Given the description of an element on the screen output the (x, y) to click on. 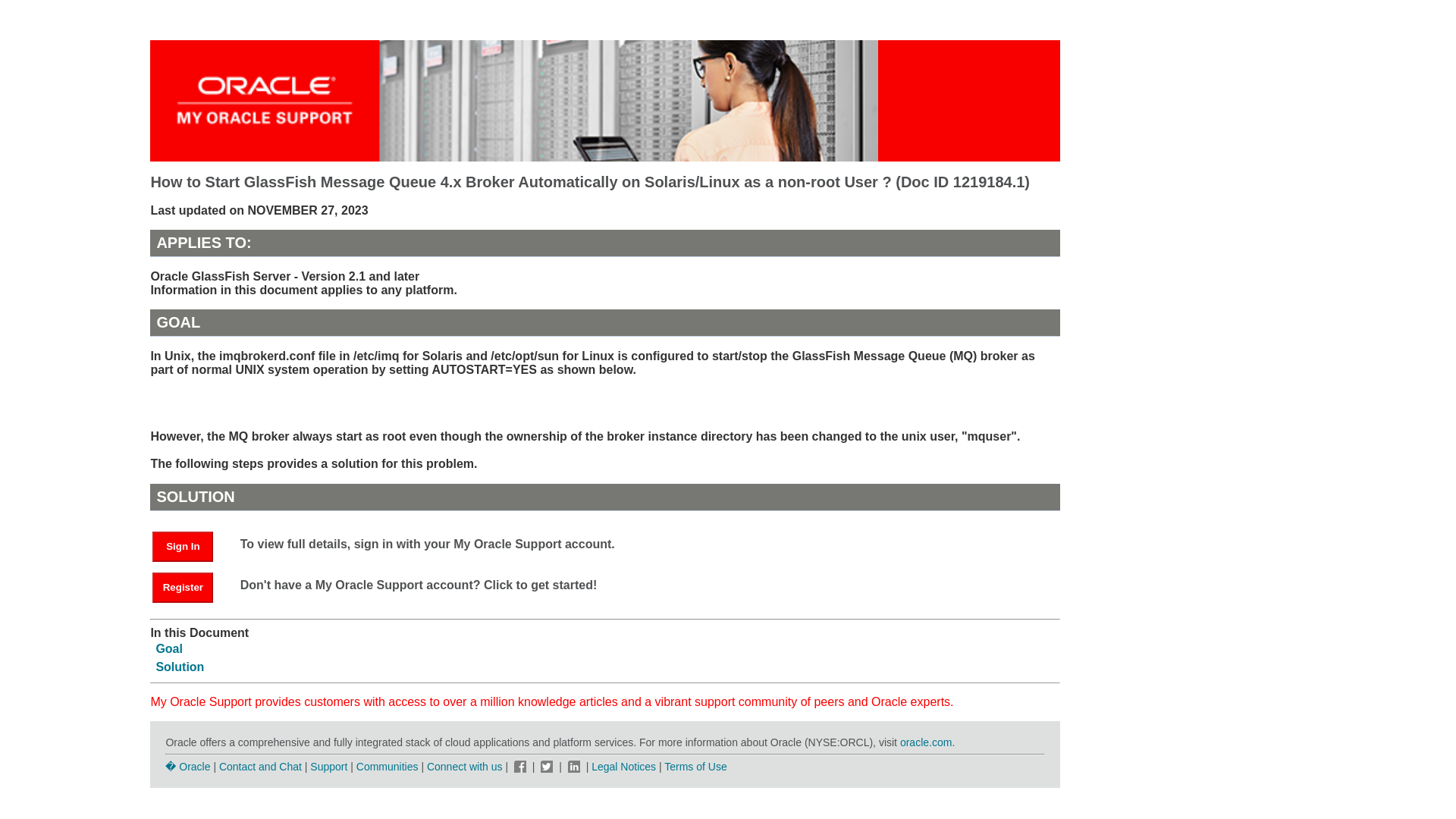
Support (328, 766)
Legal Notices (623, 766)
Register (182, 587)
Solution (179, 666)
Goal (169, 648)
Sign In (190, 545)
oracle.com (925, 742)
Connect with us (465, 766)
Sign In (182, 546)
Communities (387, 766)
